Given the description of an element on the screen output the (x, y) to click on. 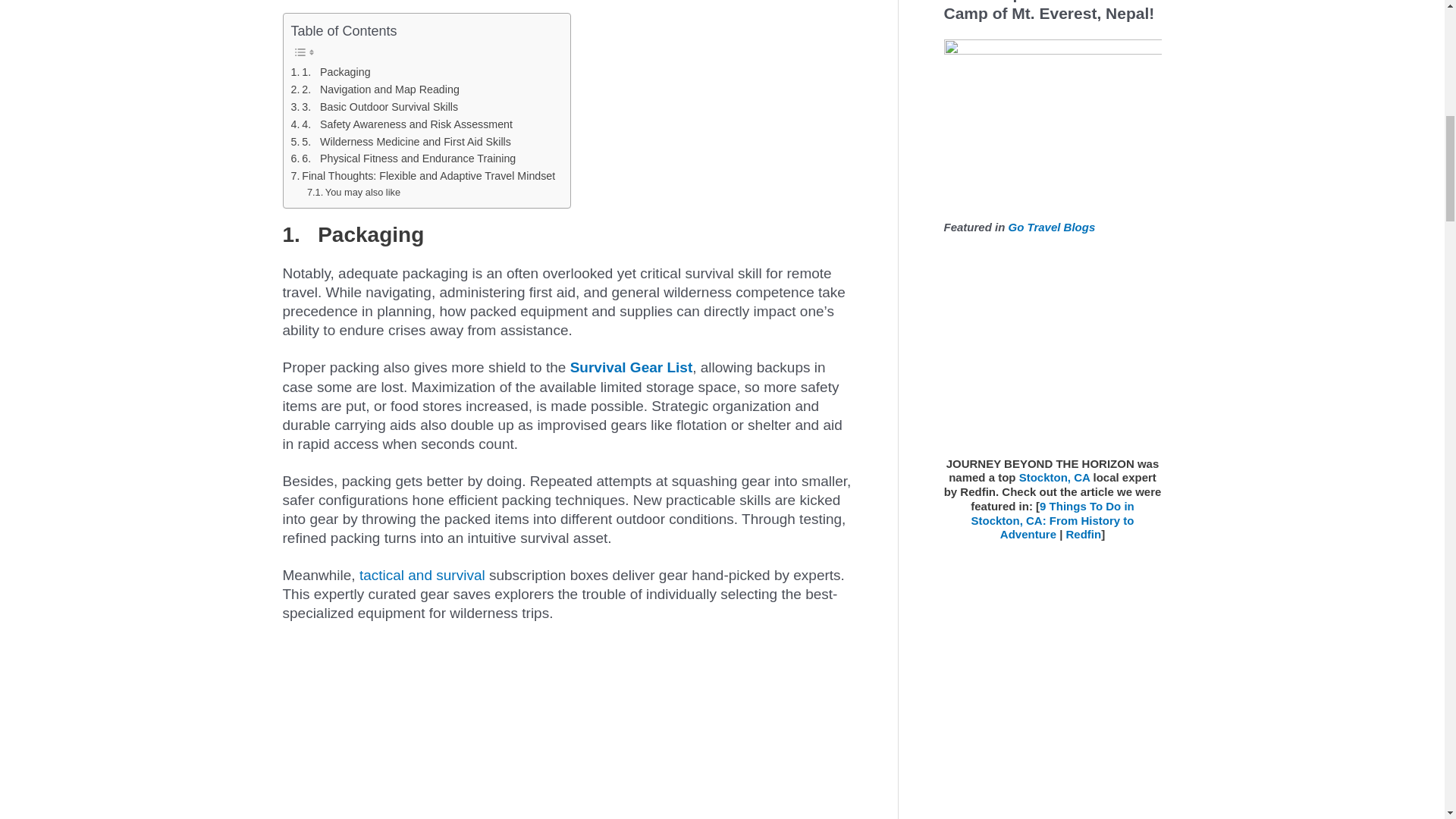
Final Thoughts: Flexible and Adaptive Travel Mindset (423, 176)
You may also like (353, 192)
